Given the description of an element on the screen output the (x, y) to click on. 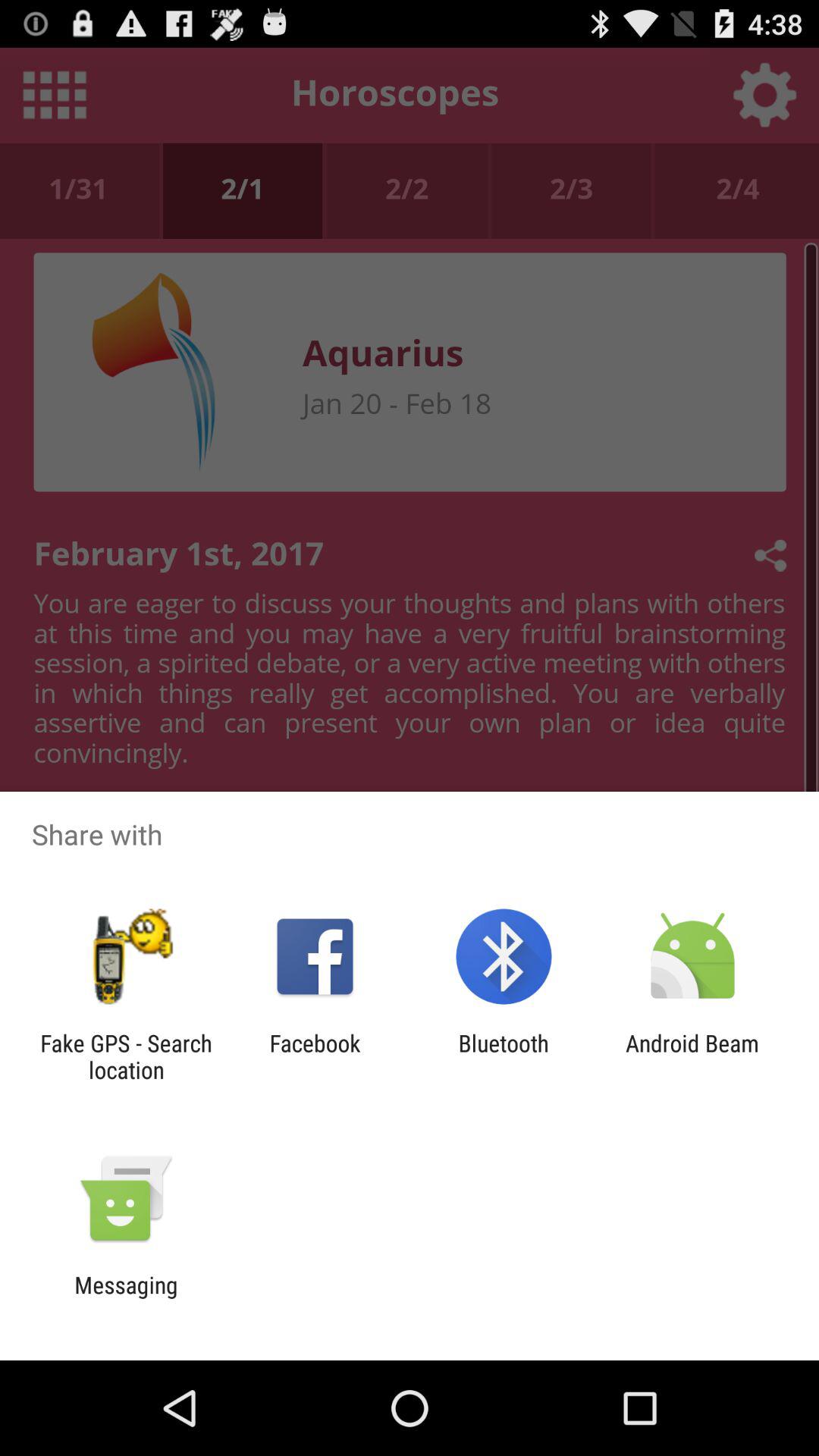
tap the icon at the bottom right corner (692, 1056)
